Given the description of an element on the screen output the (x, y) to click on. 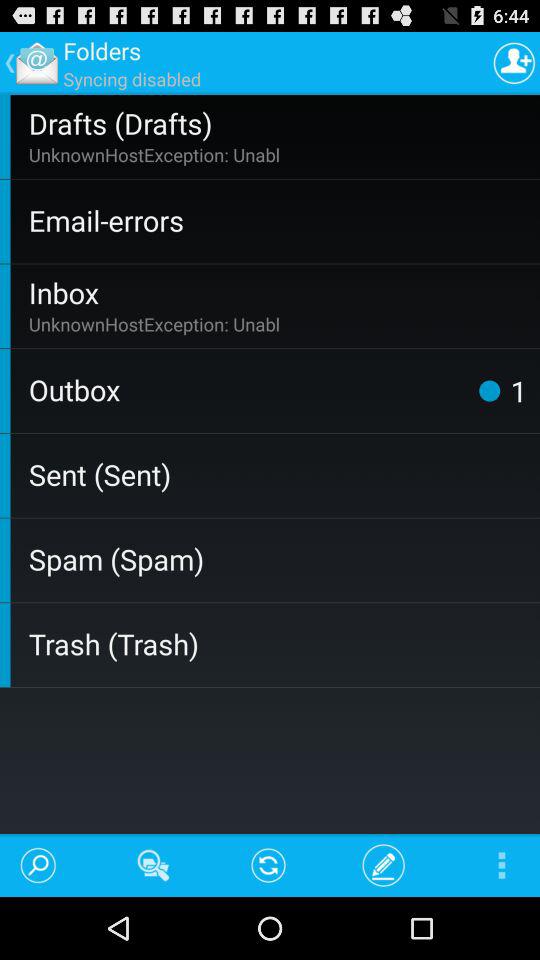
turn off the item to the right of the outbox app (489, 390)
